Given the description of an element on the screen output the (x, y) to click on. 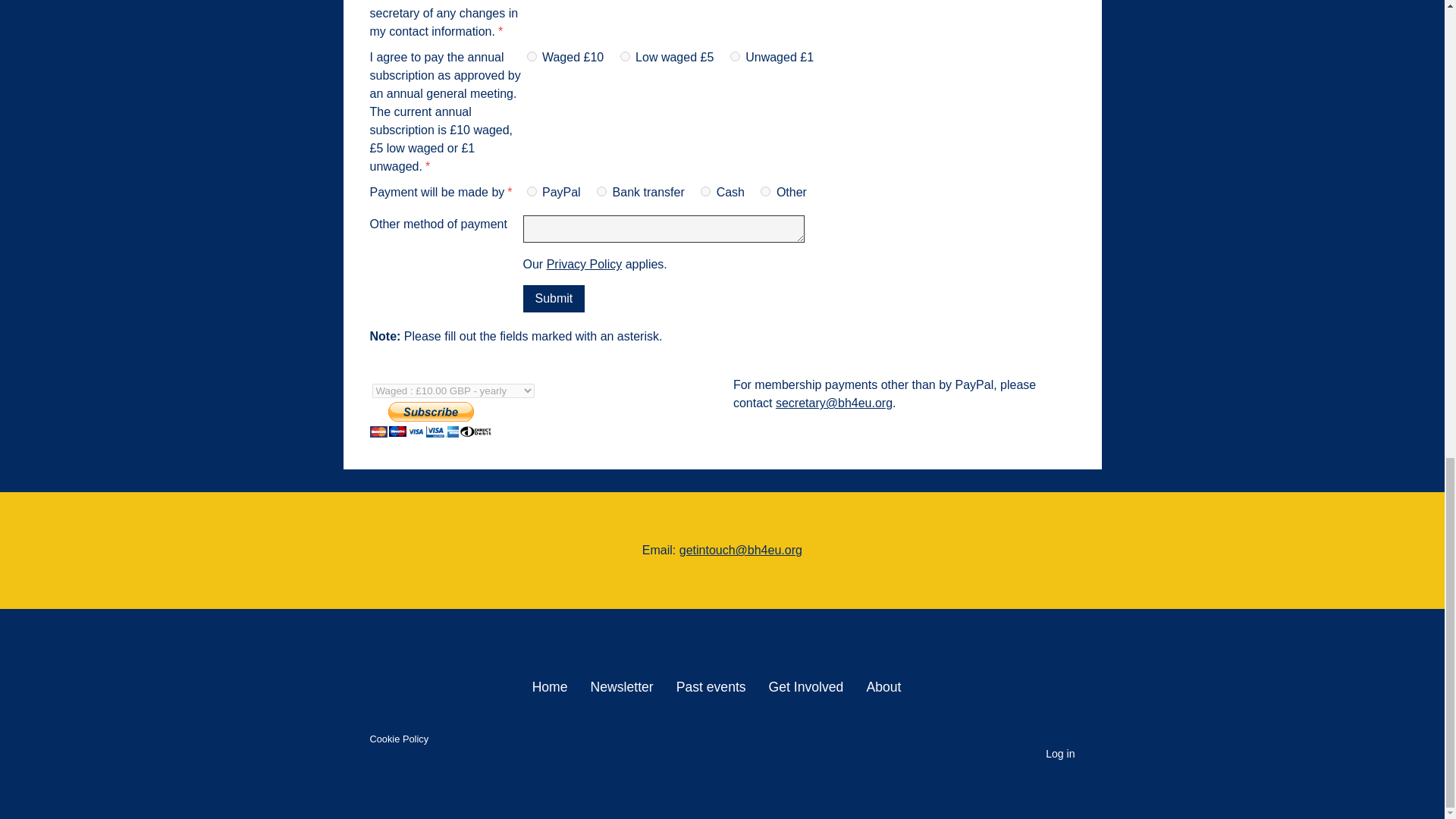
Cookie Policy (399, 738)
Submit (553, 298)
Newsletter (622, 686)
Other (765, 191)
Log in (1059, 753)
Submit (553, 298)
PayPal (530, 191)
About (883, 686)
Bank transfer (601, 191)
Cash (705, 191)
Privacy Policy (585, 264)
Home (555, 686)
Get Involved (806, 686)
Past events (711, 686)
